Given the description of an element on the screen output the (x, y) to click on. 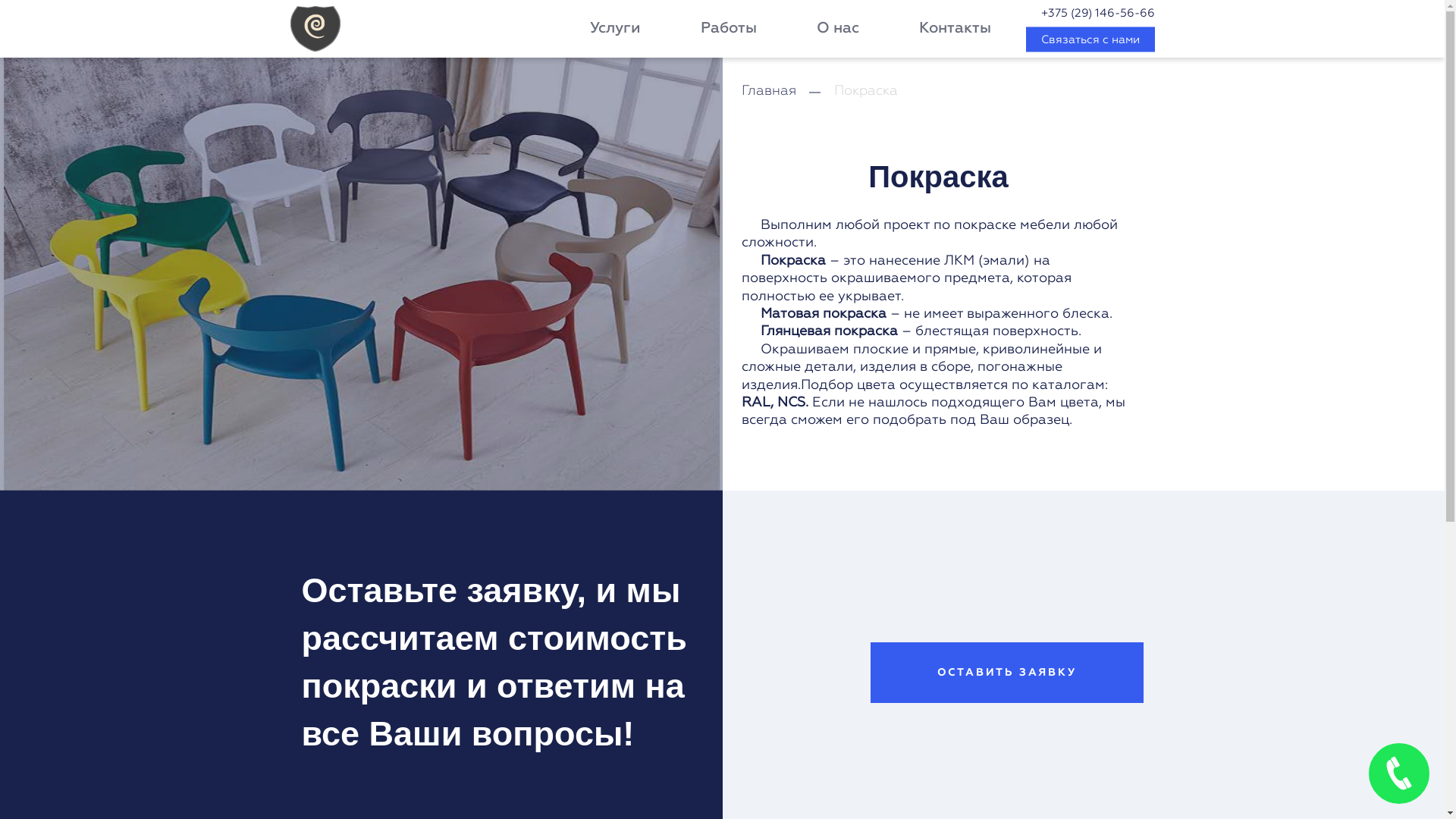
+375 (29) 146-56-66 Element type: text (1089, 13)
